Given the description of an element on the screen output the (x, y) to click on. 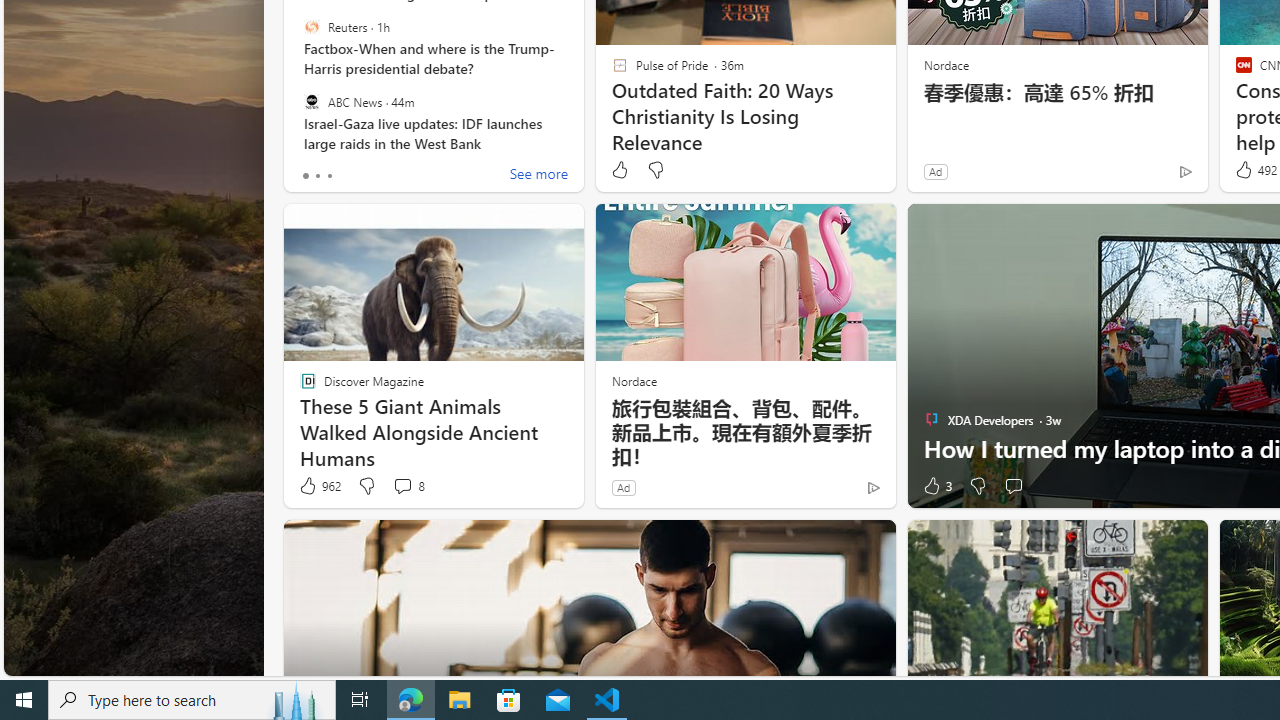
See more (538, 175)
tab-0 (305, 175)
Start the conversation (1012, 485)
Start the conversation (1013, 485)
tab-2 (328, 175)
